Given the description of an element on the screen output the (x, y) to click on. 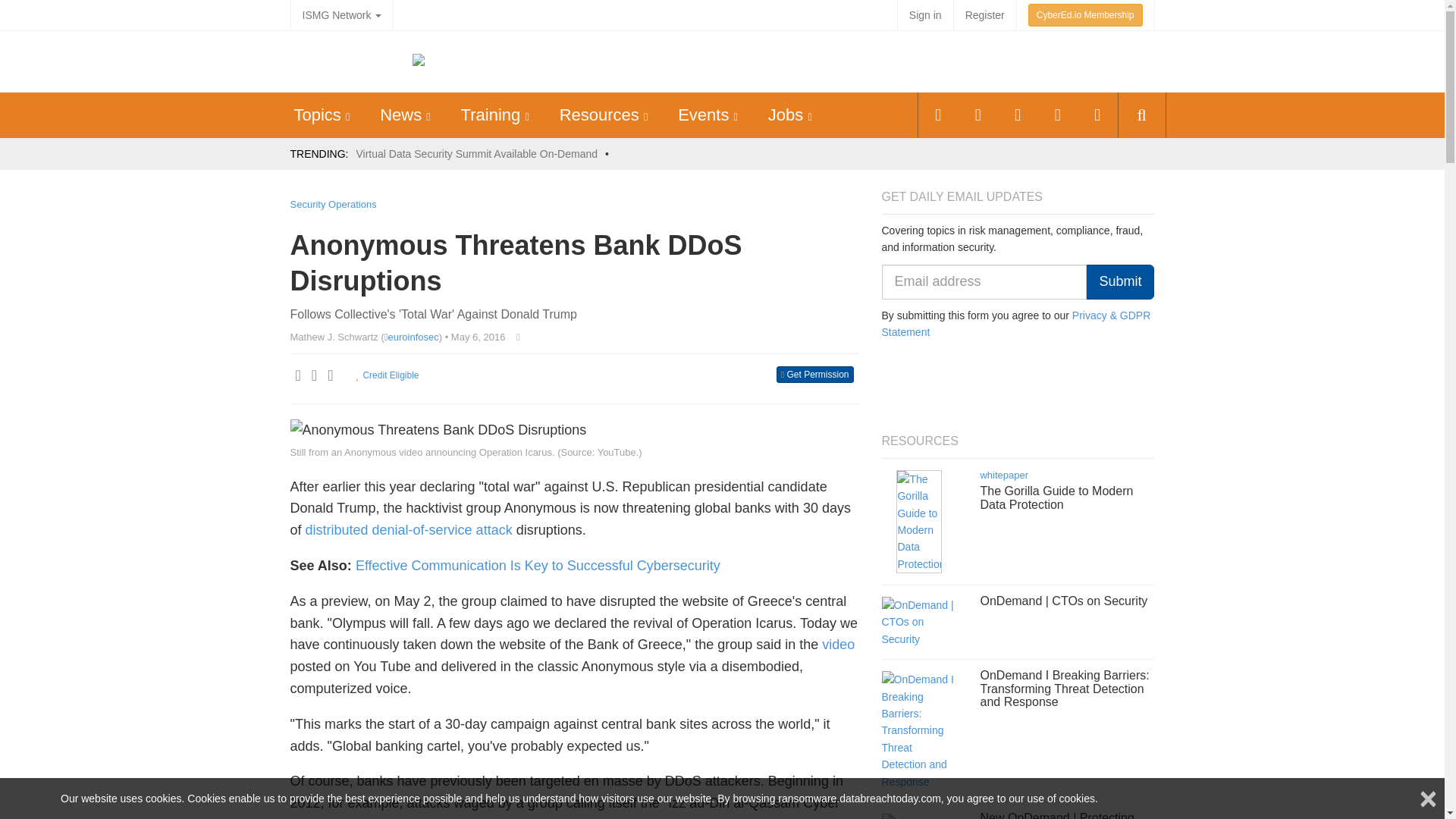
Topics (317, 114)
CyberEd.io Membership (1084, 15)
News (401, 114)
Register (984, 15)
Sign in (925, 15)
ISMG Network (341, 15)
